Given the description of an element on the screen output the (x, y) to click on. 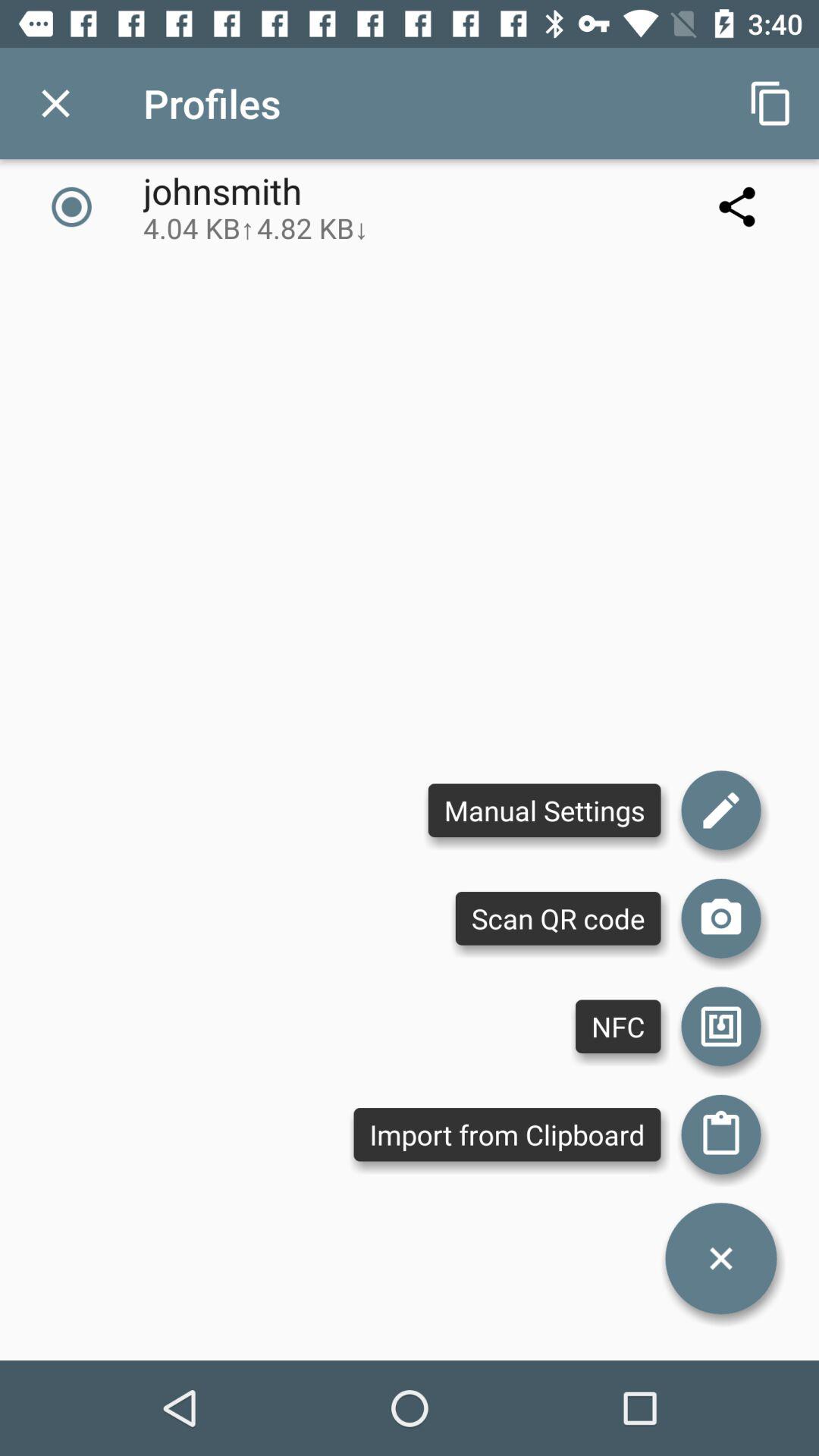
import from clipboard (721, 1134)
